Given the description of an element on the screen output the (x, y) to click on. 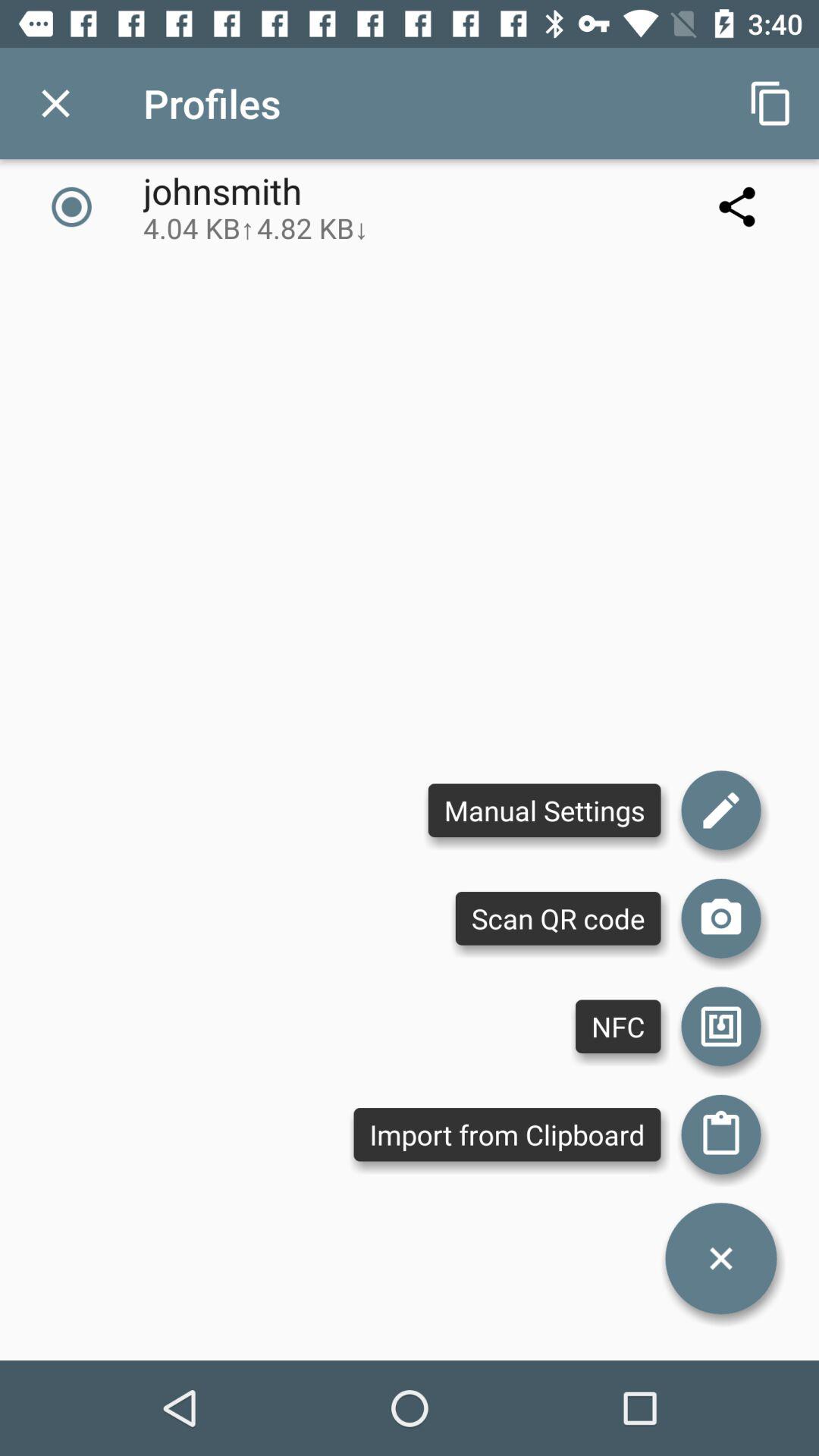
import from clipboard (721, 1134)
